Given the description of an element on the screen output the (x, y) to click on. 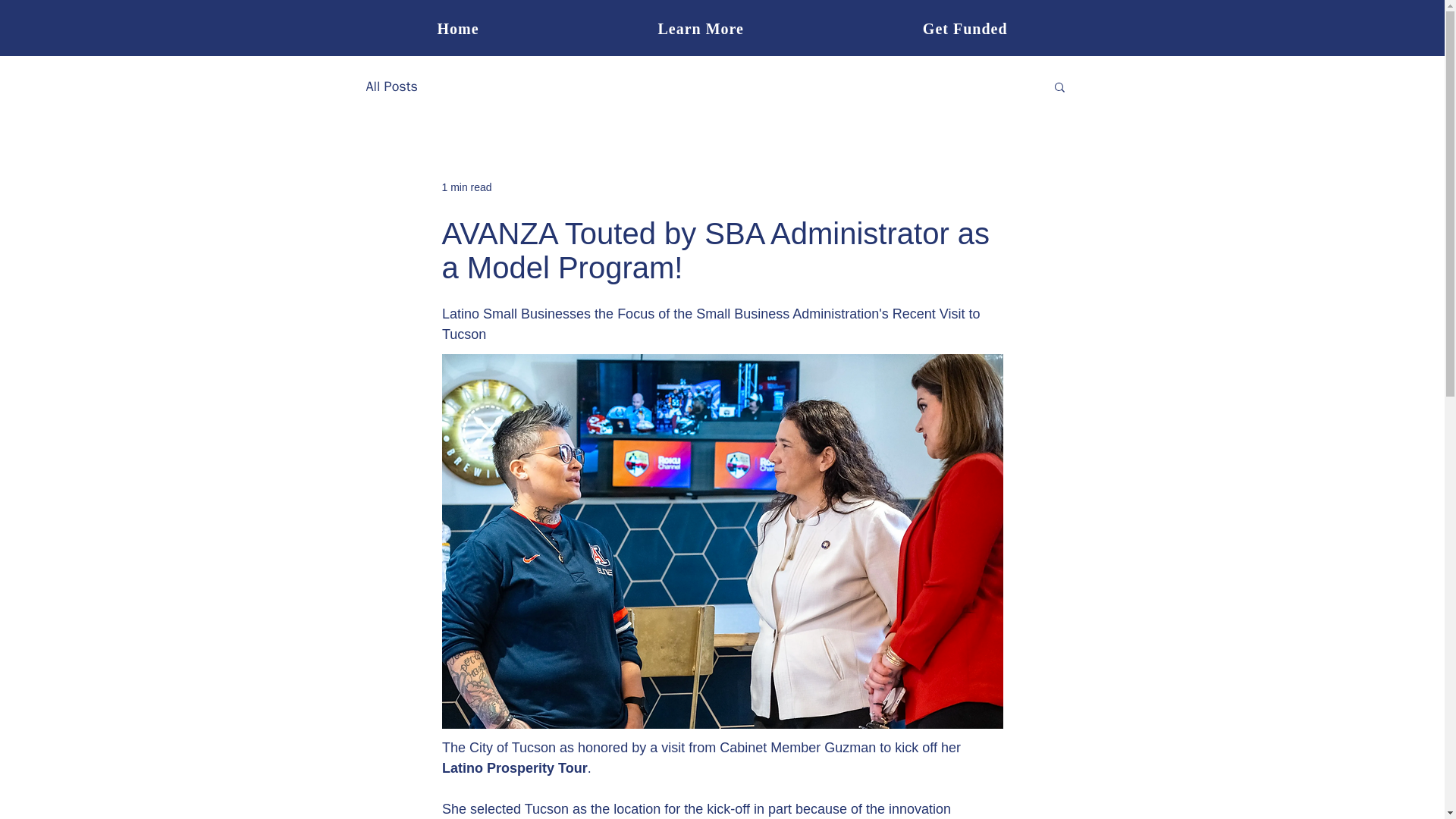
All Posts (390, 85)
1 min read (466, 186)
Home (457, 29)
Get Funded (964, 29)
Learn More (700, 29)
